Given the description of an element on the screen output the (x, y) to click on. 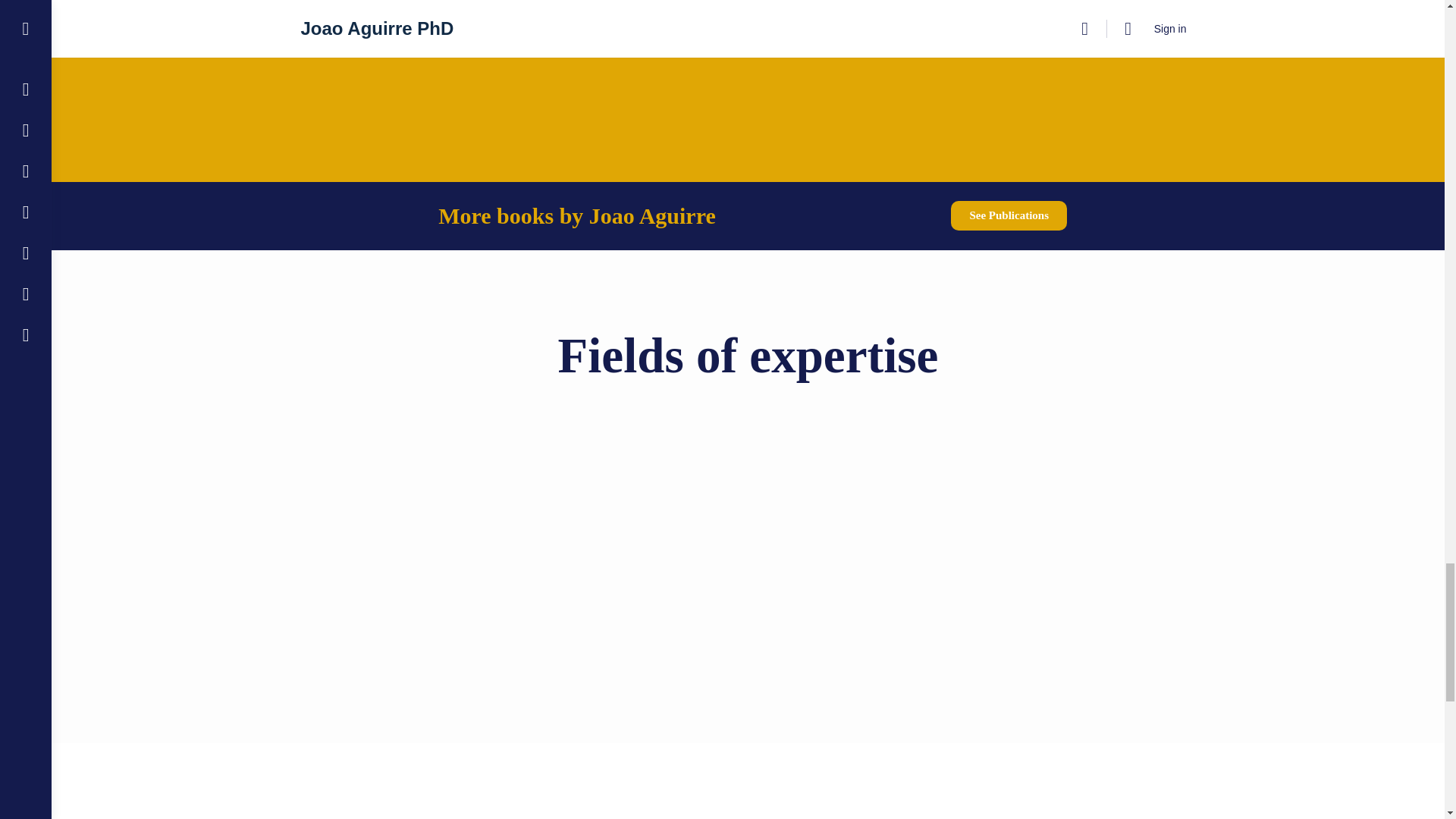
See Publications (1008, 215)
